Given the description of an element on the screen output the (x, y) to click on. 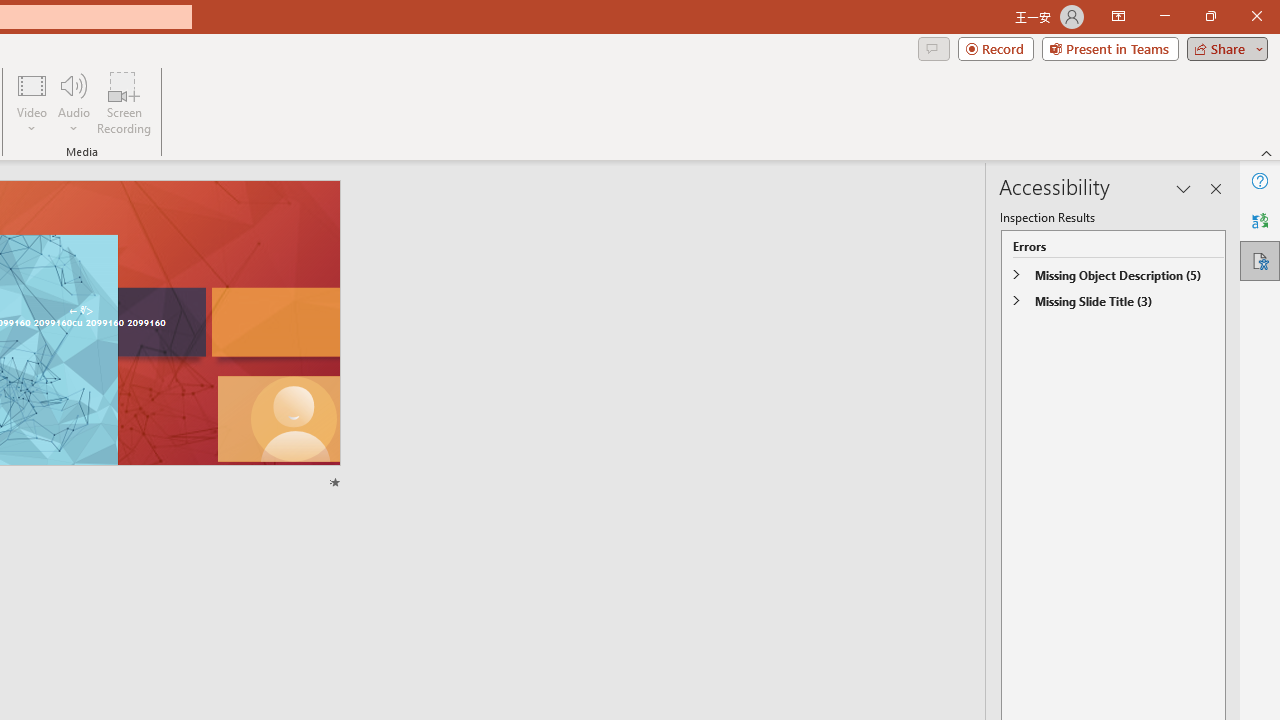
Video (31, 102)
Screen Recording... (123, 102)
